Given the description of an element on the screen output the (x, y) to click on. 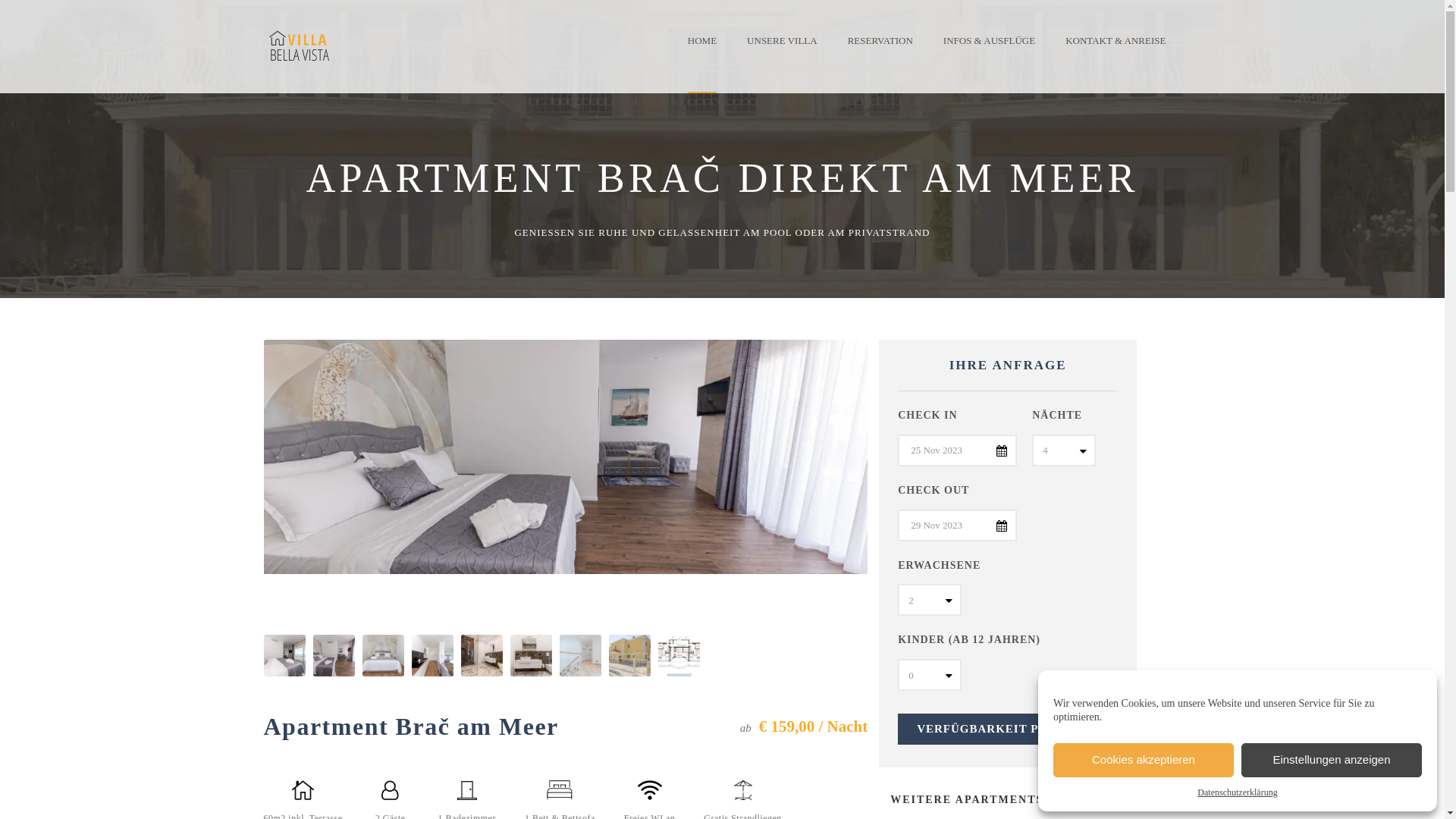
Cookies akzeptieren Element type: text (1143, 760)
UNSERE VILLA Element type: text (781, 52)
RESERVATION Element type: text (880, 52)
Einstellungen anzeigen Element type: text (1331, 760)
HOME Element type: text (709, 52)
KONTAKT & ANREISE Element type: text (1115, 52)
